Given the description of an element on the screen output the (x, y) to click on. 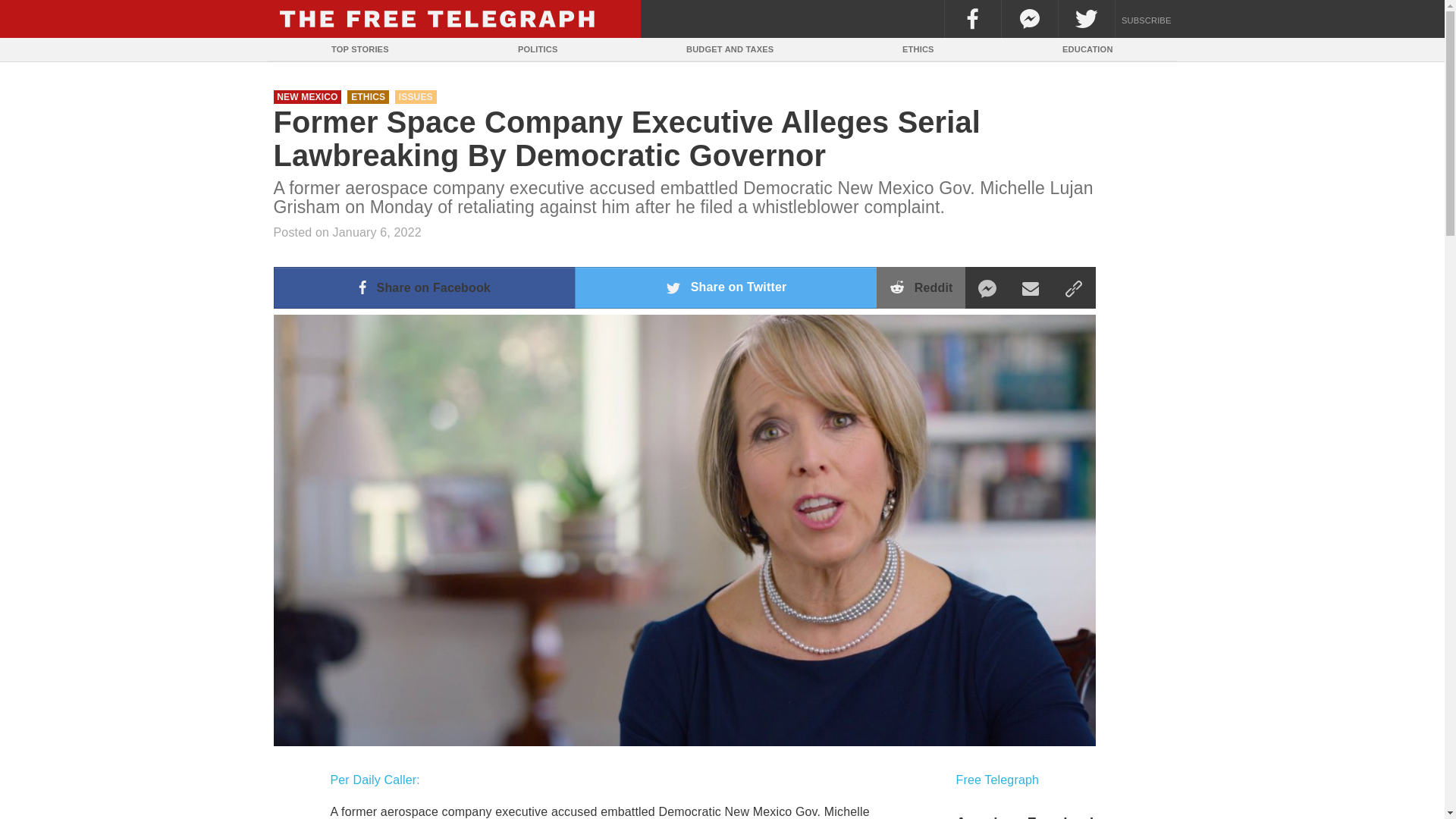
POLITICS (537, 48)
Reddit (920, 287)
Copy To Clipboard (1072, 287)
ISSUES (415, 97)
BUDGET AND TAXES (728, 48)
ETHICS (367, 97)
American Farmland (1062, 816)
Free Telegraph (997, 779)
Per Daily Caller: (374, 779)
ETHICS (918, 48)
TOP STORIES (359, 48)
Share on Facebook (424, 287)
NEW MEXICO (306, 97)
Send Mail (1030, 287)
SUBSCRIBE (1146, 18)
